Given the description of an element on the screen output the (x, y) to click on. 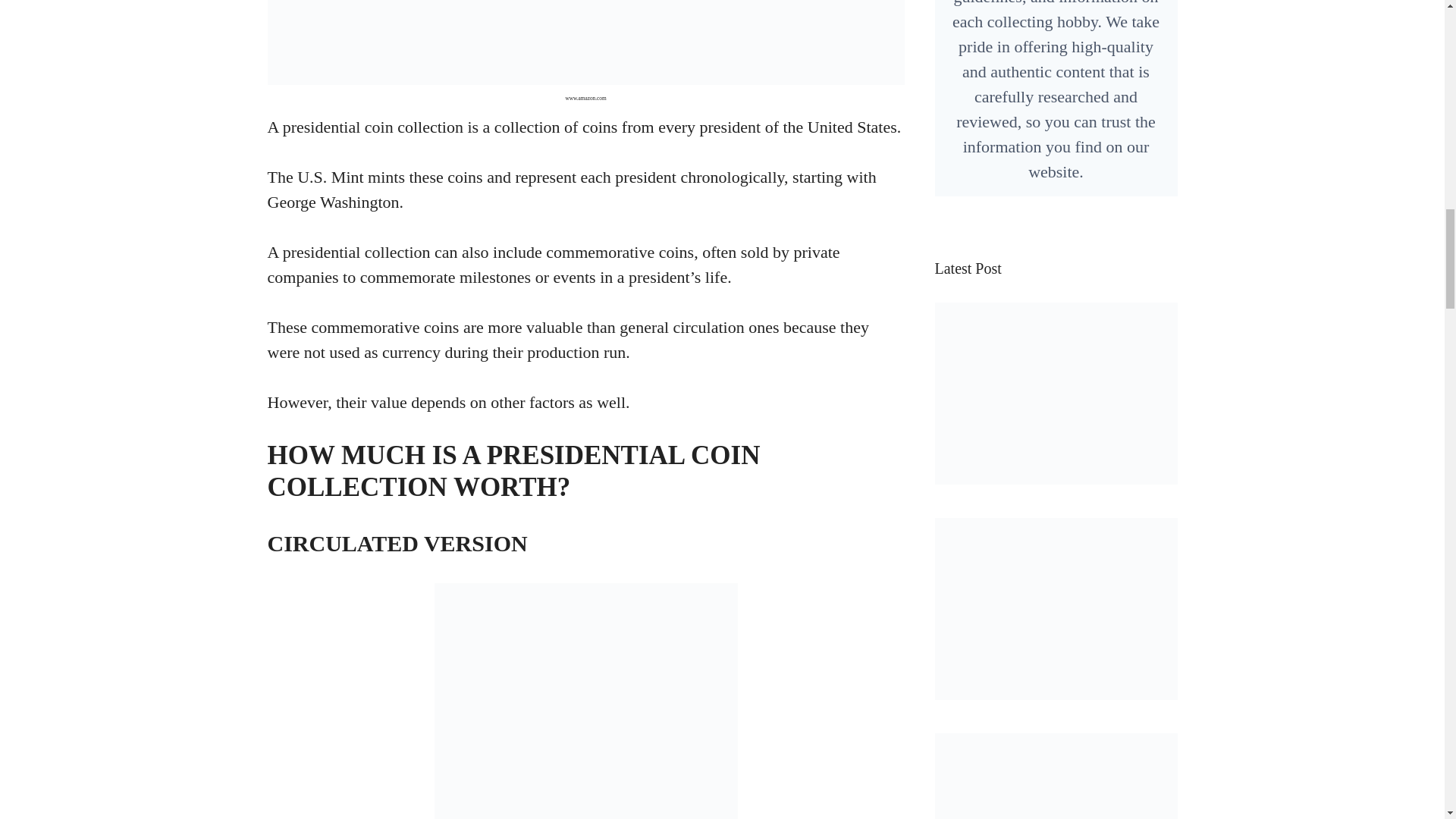
How Much is a Presidential Coin Collection Worth? 2 (585, 42)
Top 10: Interesting Stamp Collecting Facts! 6 (1055, 608)
Why Do Adults Buy Funko Pops? (1055, 471)
Why Do Adults Buy Funko Pops? 5 (1055, 393)
Top 10: Interesting Stamp Collecting Facts! (1055, 687)
How Much is a Presidential Coin Collection Worth? 3 (584, 701)
